Given the description of an element on the screen output the (x, y) to click on. 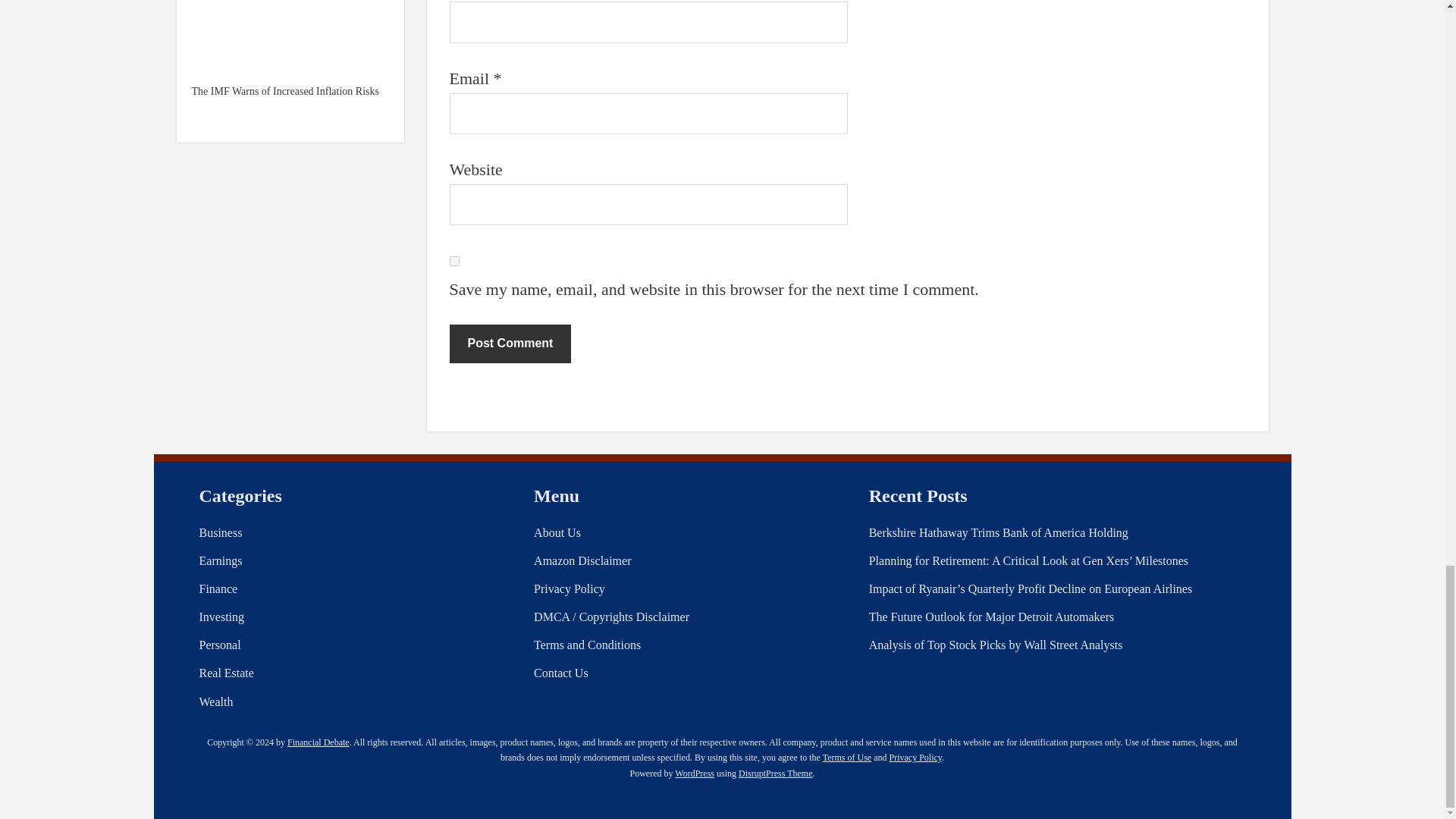
yes (453, 261)
Post Comment (509, 343)
